Given the description of an element on the screen output the (x, y) to click on. 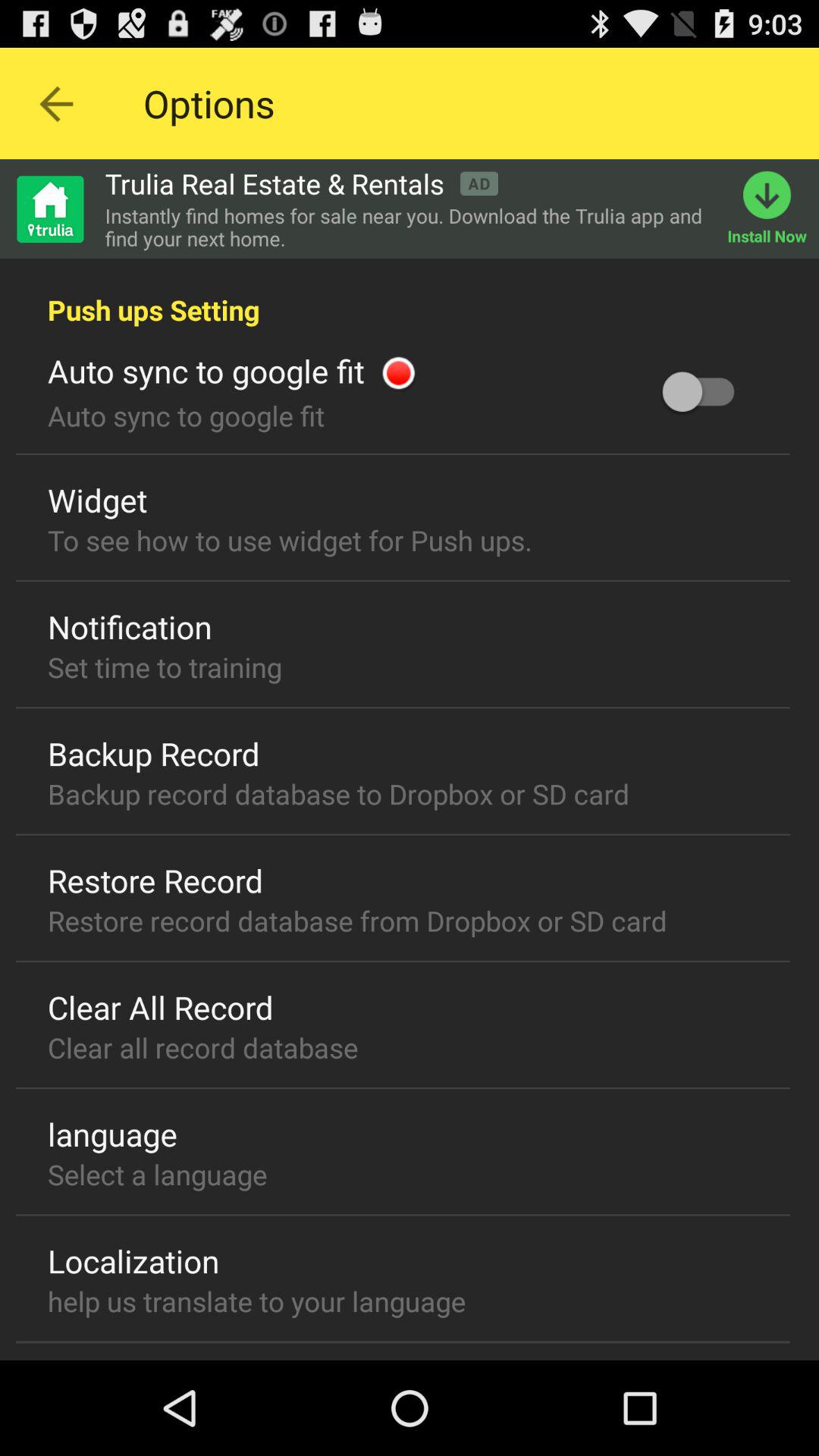
select advertisement (49, 208)
